Given the description of an element on the screen output the (x, y) to click on. 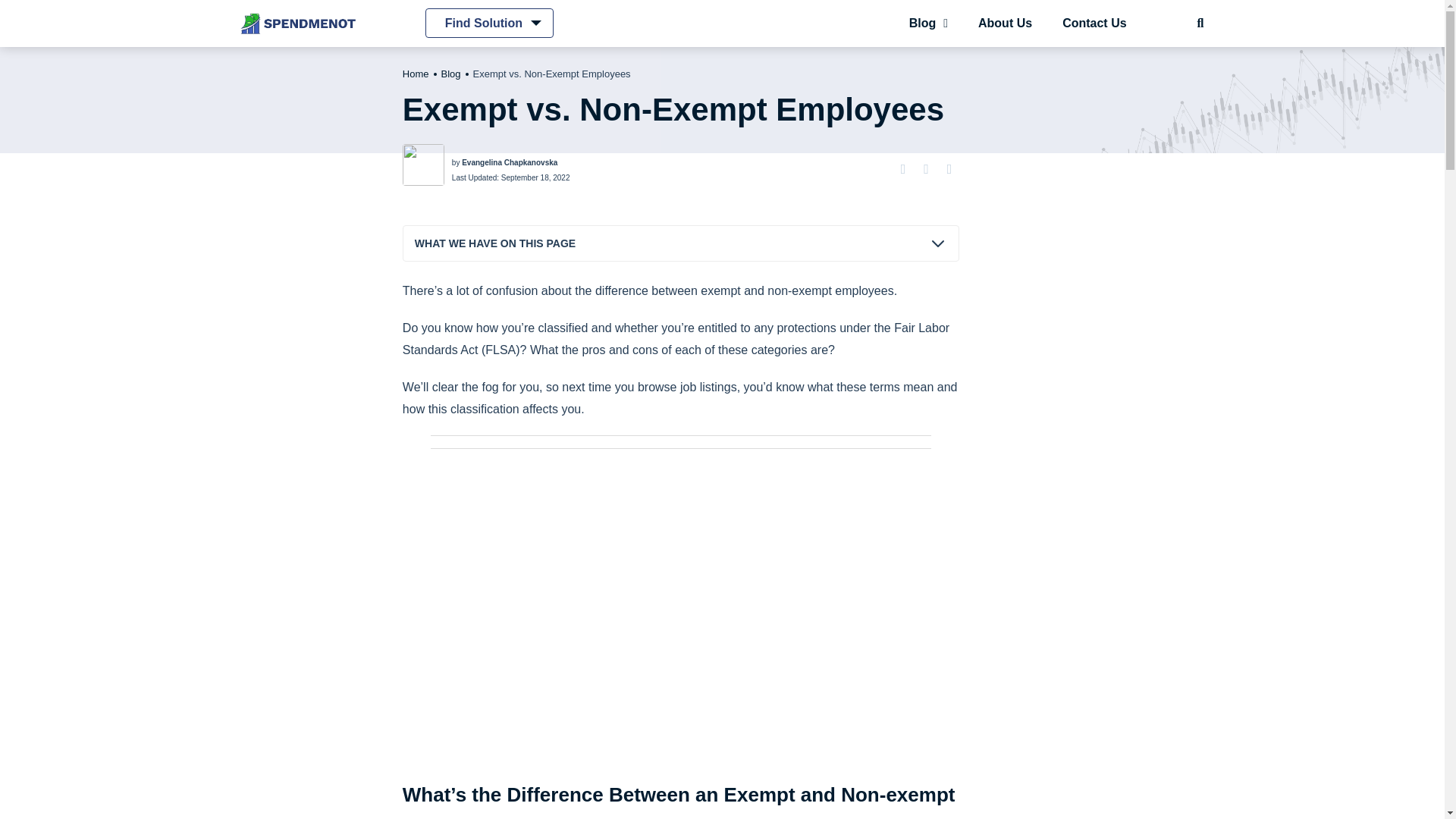
Home (416, 73)
Blog (927, 23)
Contact Us (1093, 23)
About Us (1004, 23)
Evangelina Chapkanovska (509, 162)
Blog (451, 73)
